Given the description of an element on the screen output the (x, y) to click on. 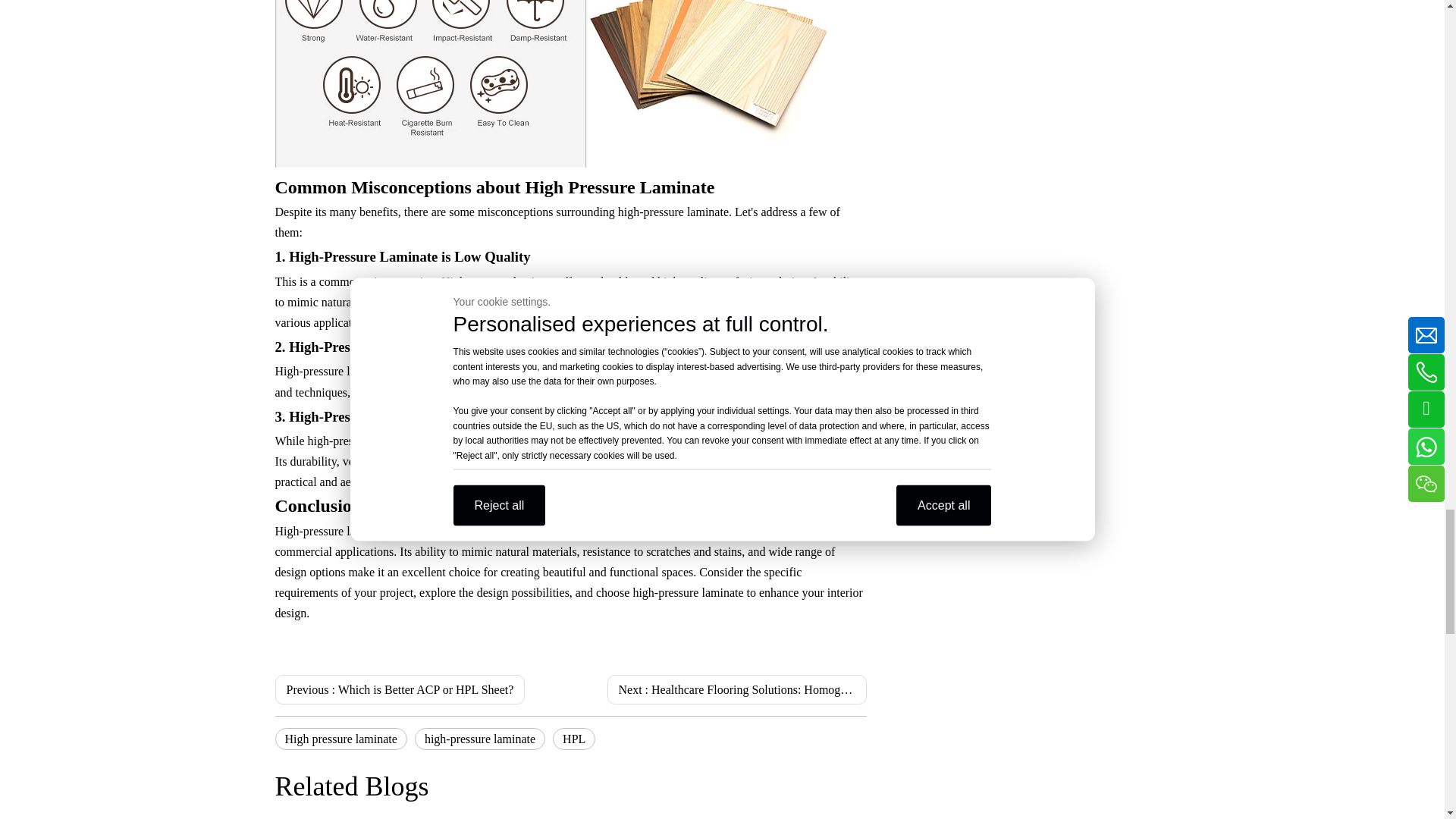
b (551, 83)
High pressure laminate (340, 739)
HPL (574, 739)
high-pressure laminate (479, 739)
